Given the description of an element on the screen output the (x, y) to click on. 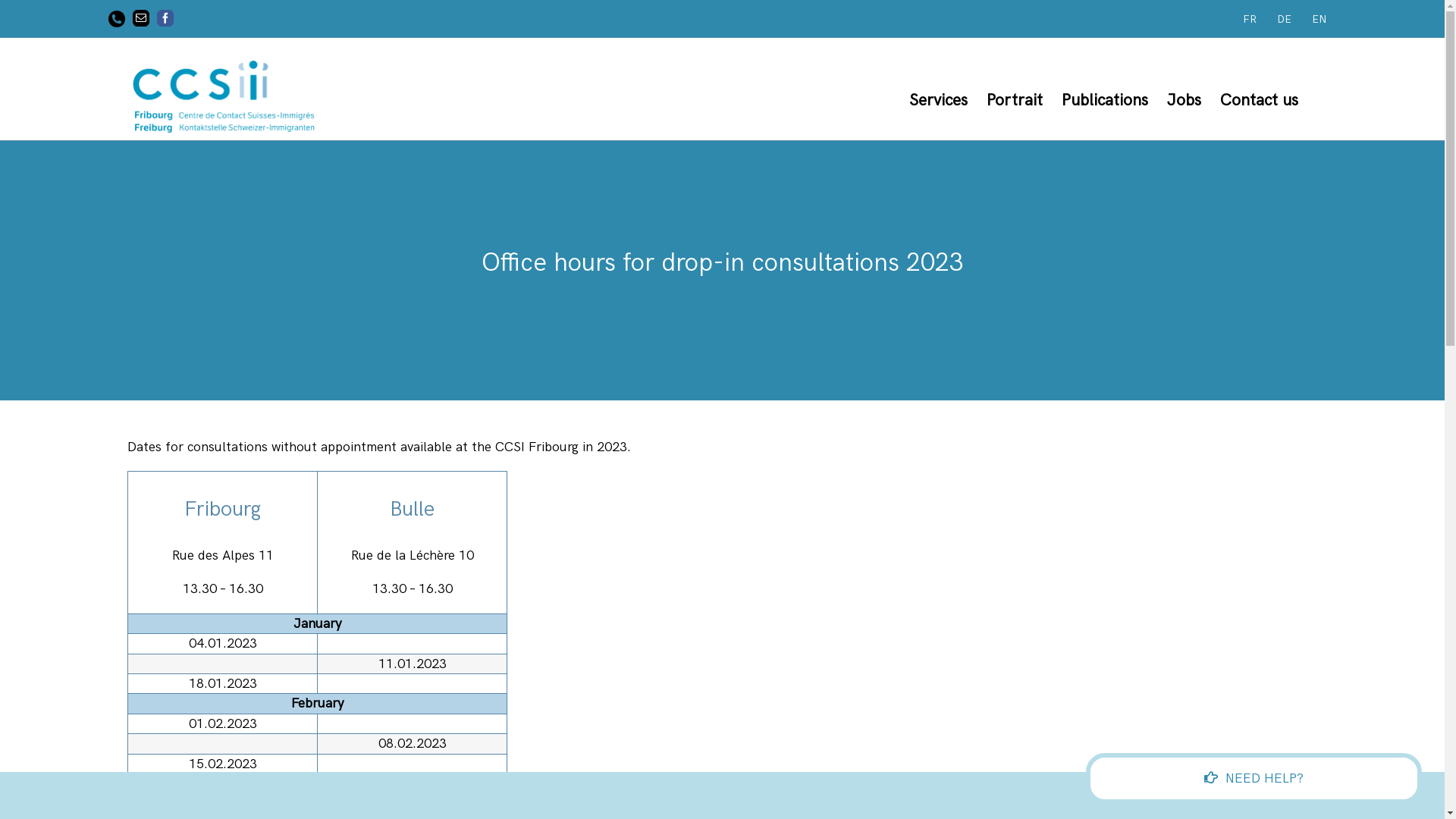
Publications Element type: text (1104, 100)
EN Element type: text (1319, 19)
Facebook Element type: text (164, 17)
Services Element type: text (938, 100)
FR Element type: text (1249, 19)
NEED HELP? Element type: text (1253, 778)
Email Element type: text (140, 17)
DE Element type: text (1284, 19)
026 424 21 25 Element type: text (116, 18)
Jobs Element type: text (1184, 100)
Contact us Element type: text (1259, 100)
Portrait Element type: text (1014, 100)
